Given the description of an element on the screen output the (x, y) to click on. 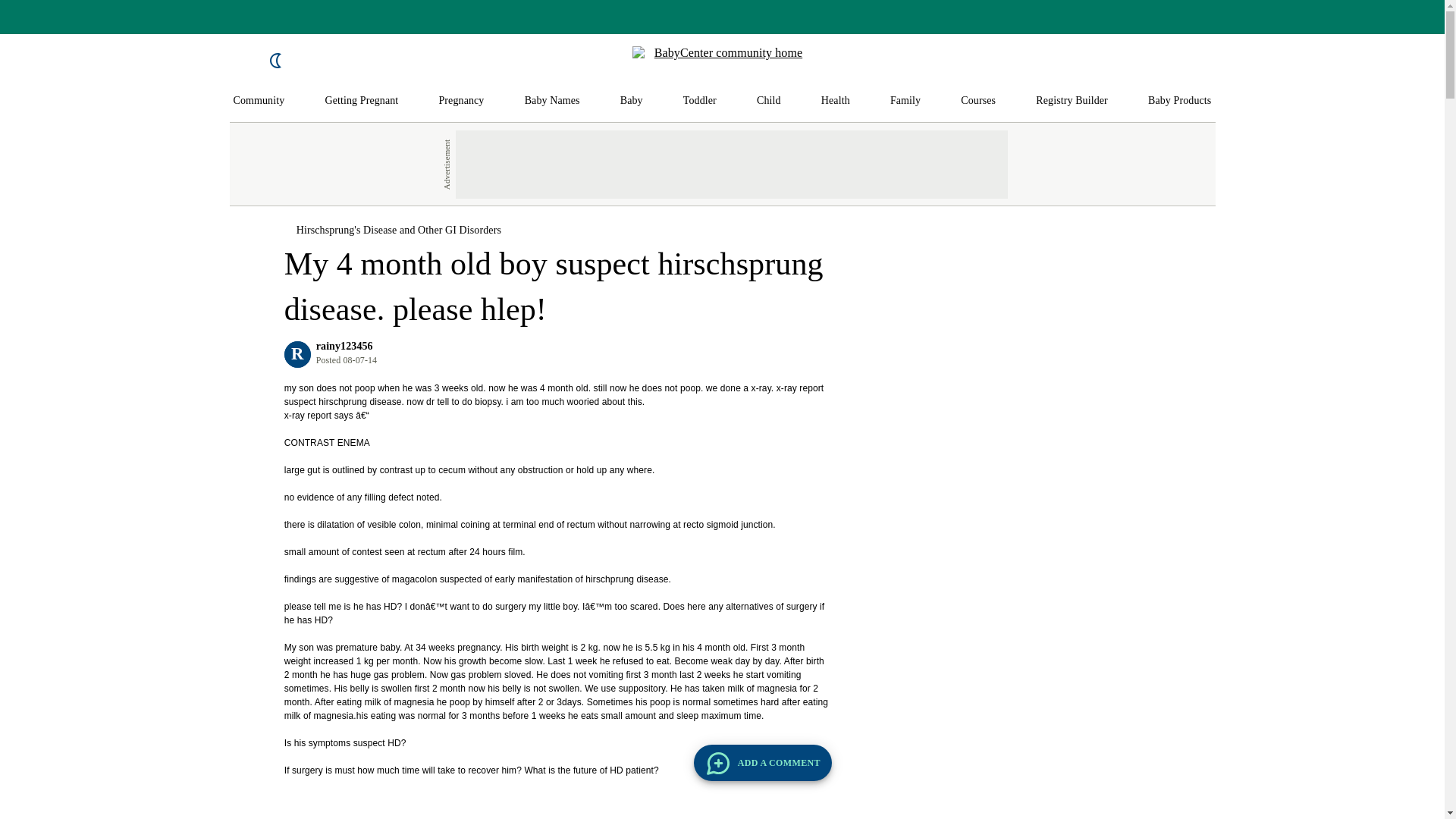
Getting Pregnant (360, 101)
Family (904, 101)
Baby Products (1179, 101)
Baby (631, 101)
Community (258, 101)
Health (835, 101)
Baby Names (551, 101)
Toddler (699, 101)
Registry Builder (1071, 101)
Pregnancy (460, 101)
